Given the description of an element on the screen output the (x, y) to click on. 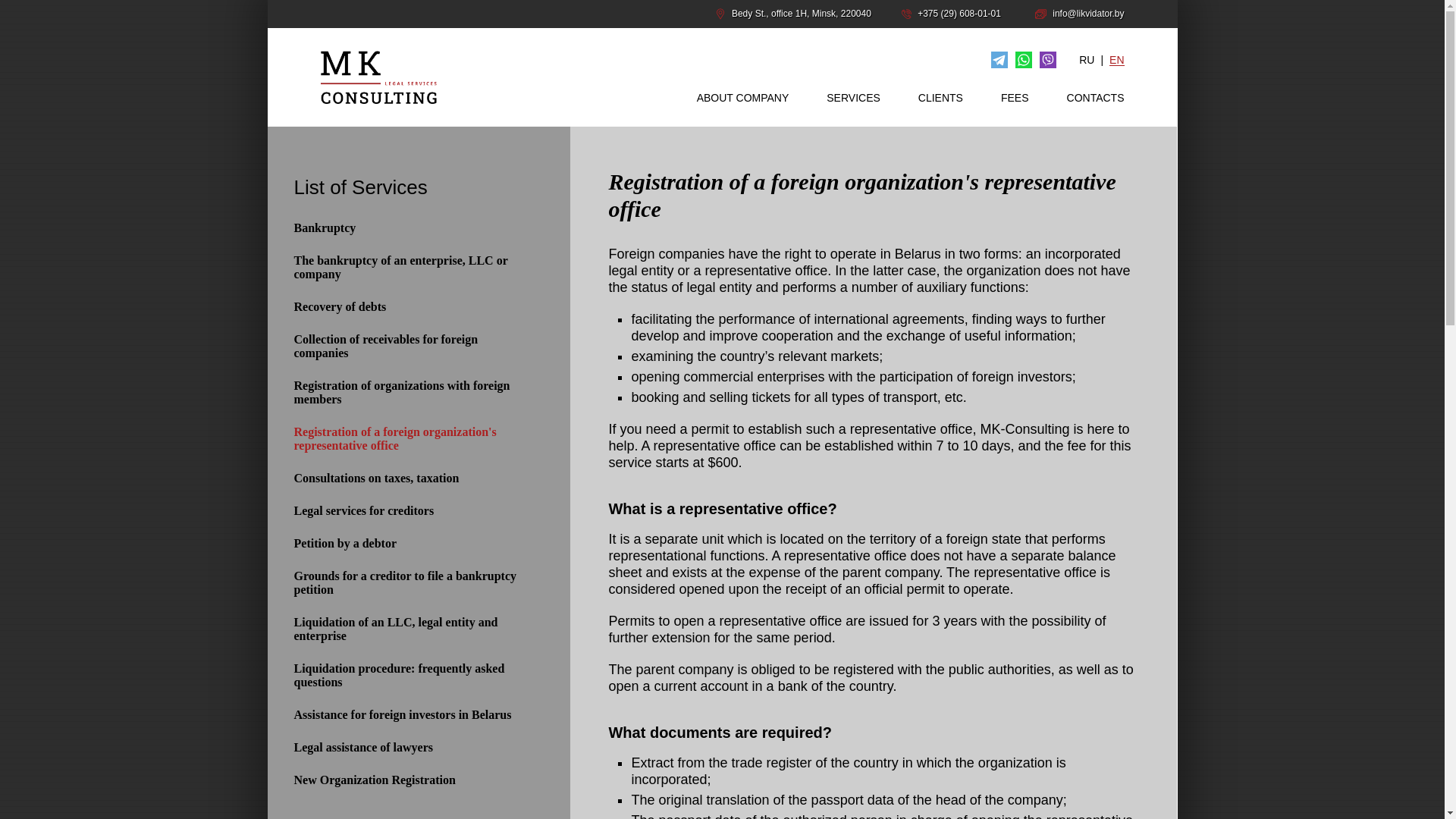
Collection of receivables for foreign companies (413, 346)
Grounds for a creditor to file a bankruptcy petition (413, 583)
Recovery of debts (413, 306)
Petition by a debtor (413, 543)
SERVICES (853, 97)
Consultations on taxes, taxation (413, 478)
Assistance for foreign investors in Belarus (413, 714)
CONTACTS (1095, 97)
Liquidation procedure: frequently asked questions (413, 675)
RU (1086, 60)
ABOUT COMPANY (743, 97)
FEES (1015, 97)
CLIENTS (940, 97)
EN (1116, 60)
Legal assistance of lawyers (413, 747)
